Given the description of an element on the screen output the (x, y) to click on. 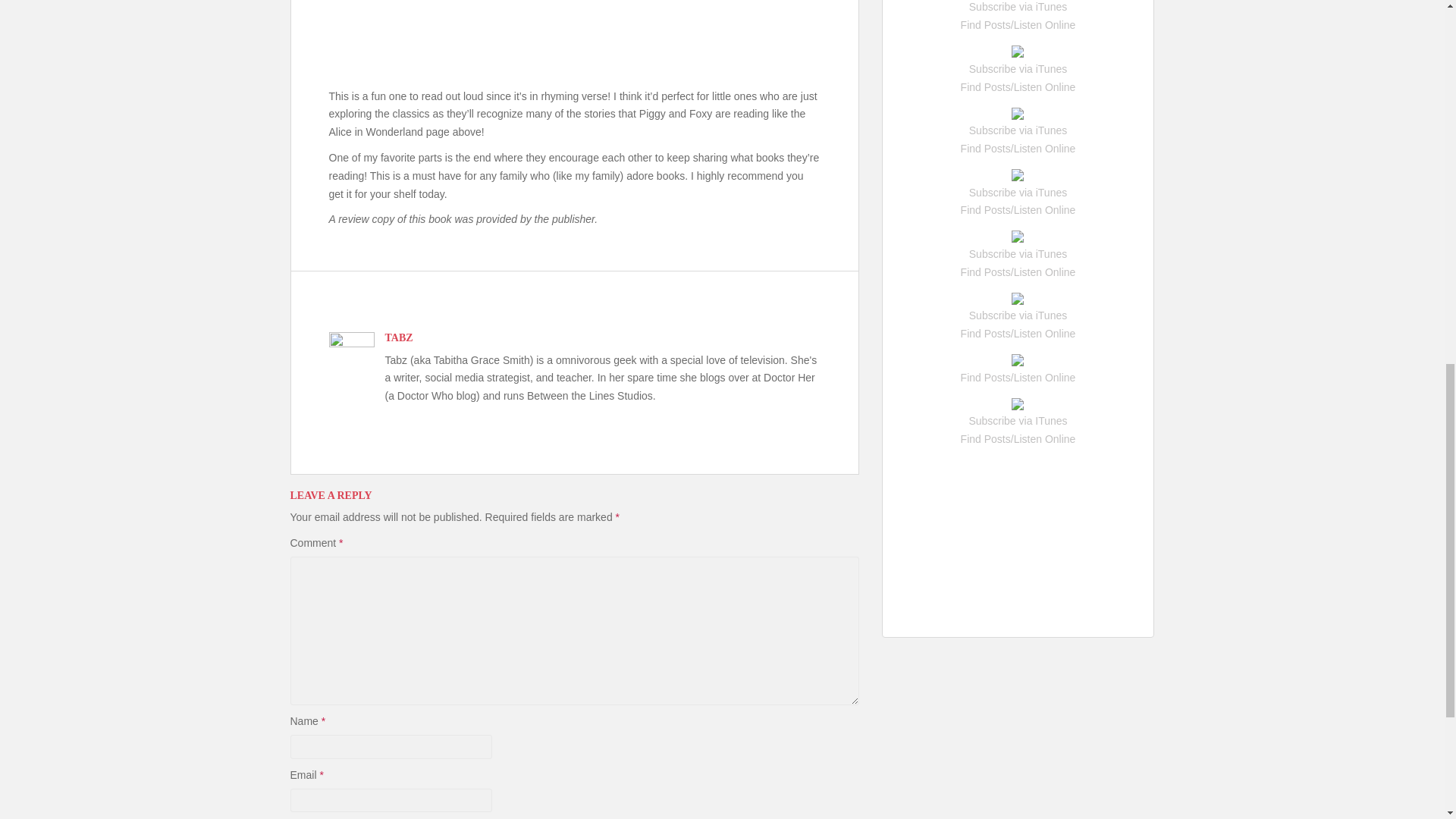
TABZ (399, 337)
